Given the description of an element on the screen output the (x, y) to click on. 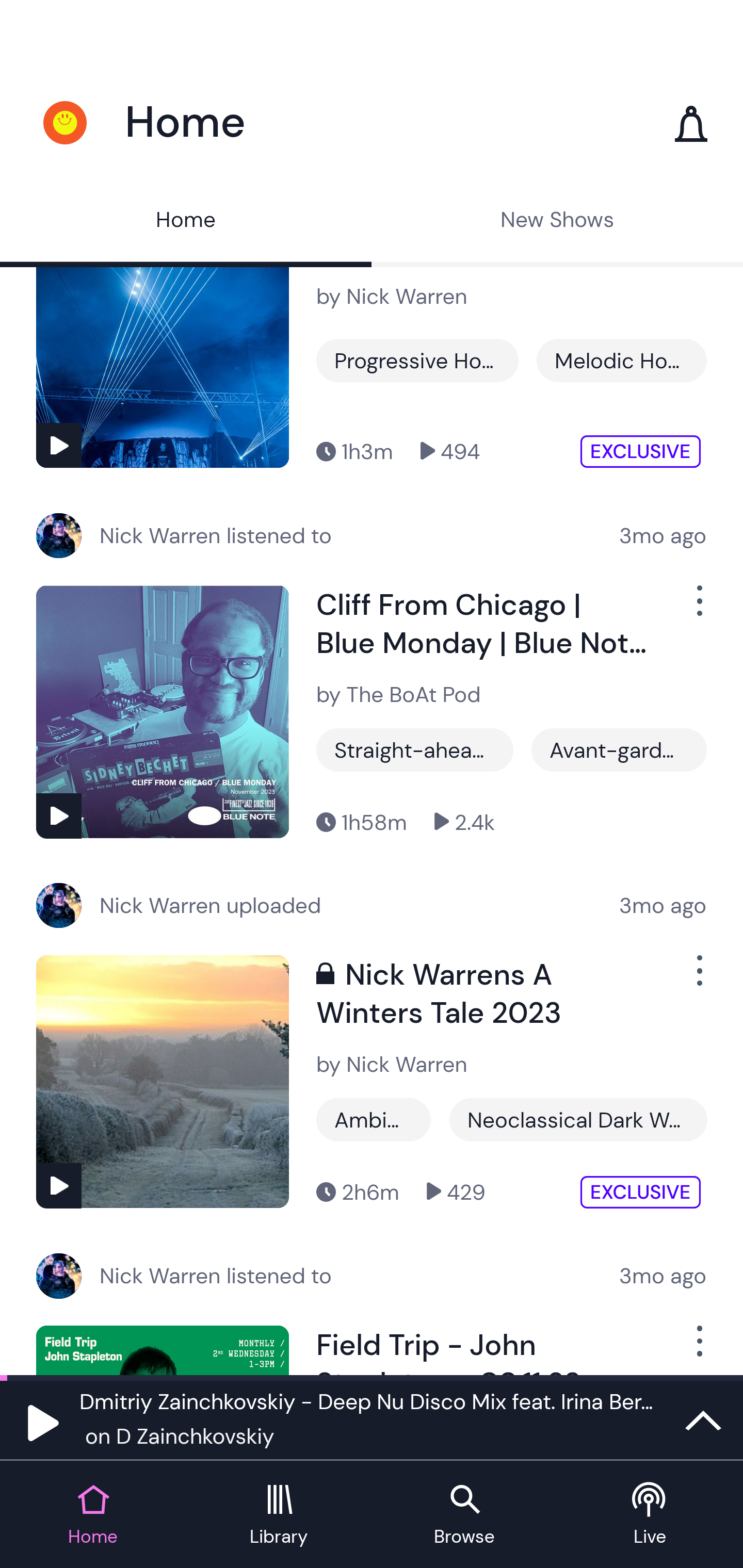
Home (185, 221)
New Shows (557, 221)
Progressive House (417, 360)
Melodic House (621, 360)
Show Options Menu Button (697, 607)
Straight-ahead Jazz (414, 749)
Avant-garde Jazz (618, 749)
Show Options Menu Button (697, 977)
Ambient (373, 1119)
Neoclassical Dark Wave (577, 1119)
Show Options Menu Button (697, 1348)
Home tab Home (92, 1515)
Library tab Library (278, 1515)
Browse tab Browse (464, 1515)
Live tab Live (650, 1515)
